Given the description of an element on the screen output the (x, y) to click on. 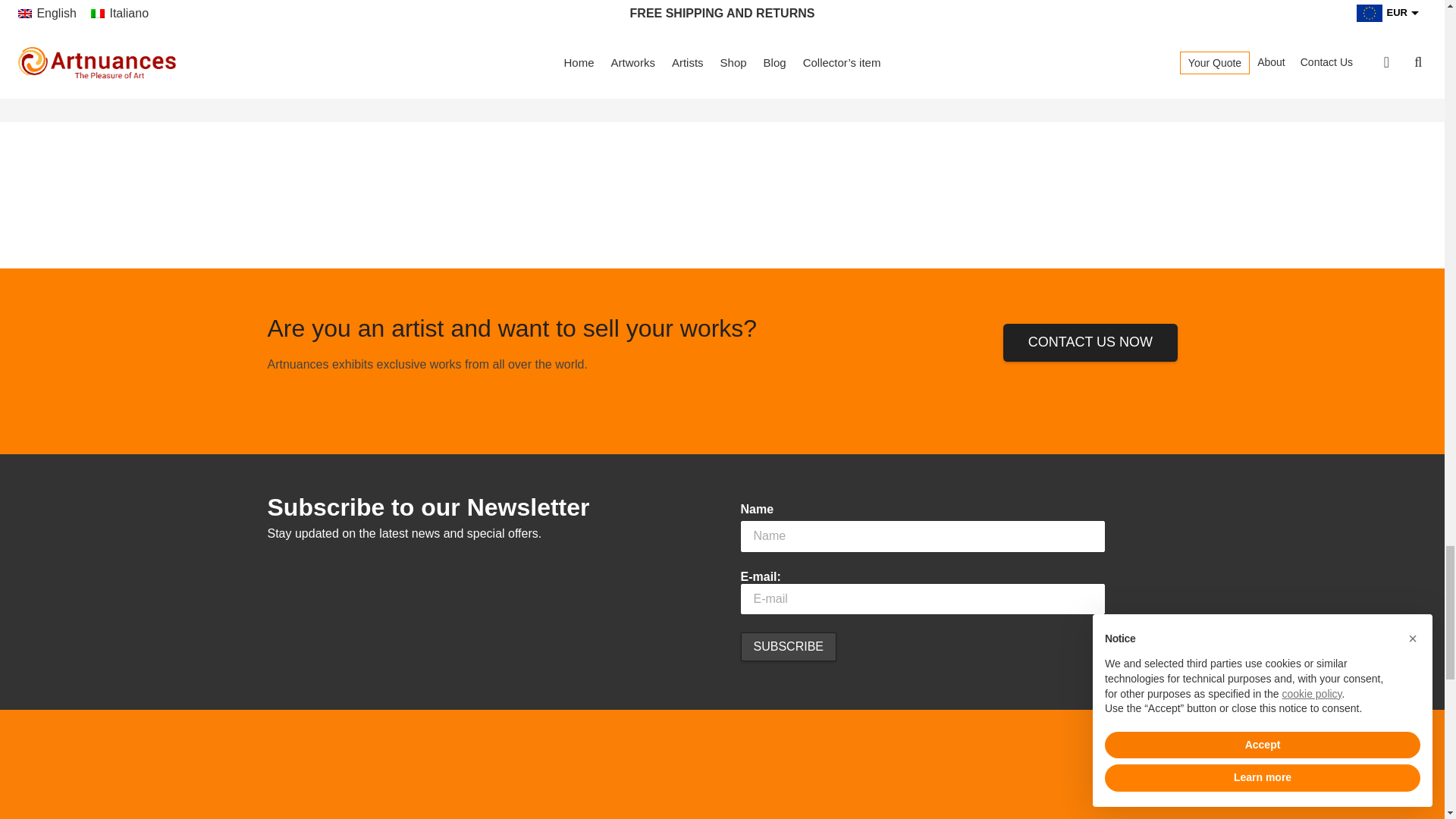
Send (764, 20)
Contacts for Artists (1089, 342)
Subscribe (787, 646)
1 (357, 12)
